Given the description of an element on the screen output the (x, y) to click on. 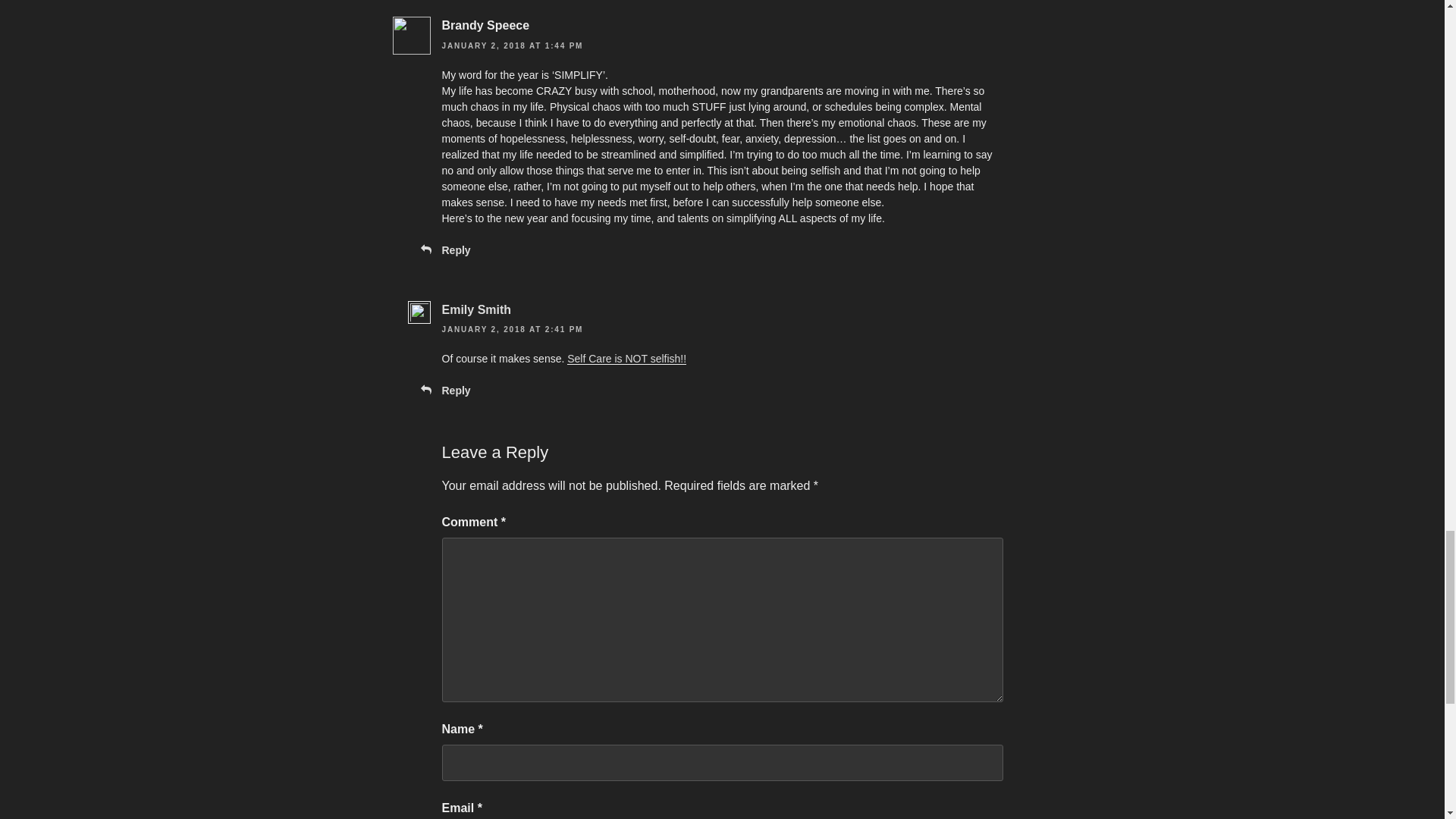
Reply (455, 250)
Self Care is NOT selfish!! (626, 358)
Emily Smith (476, 309)
JANUARY 2, 2018 AT 2:41 PM (512, 329)
JANUARY 2, 2018 AT 1:44 PM (512, 45)
